Given the description of an element on the screen output the (x, y) to click on. 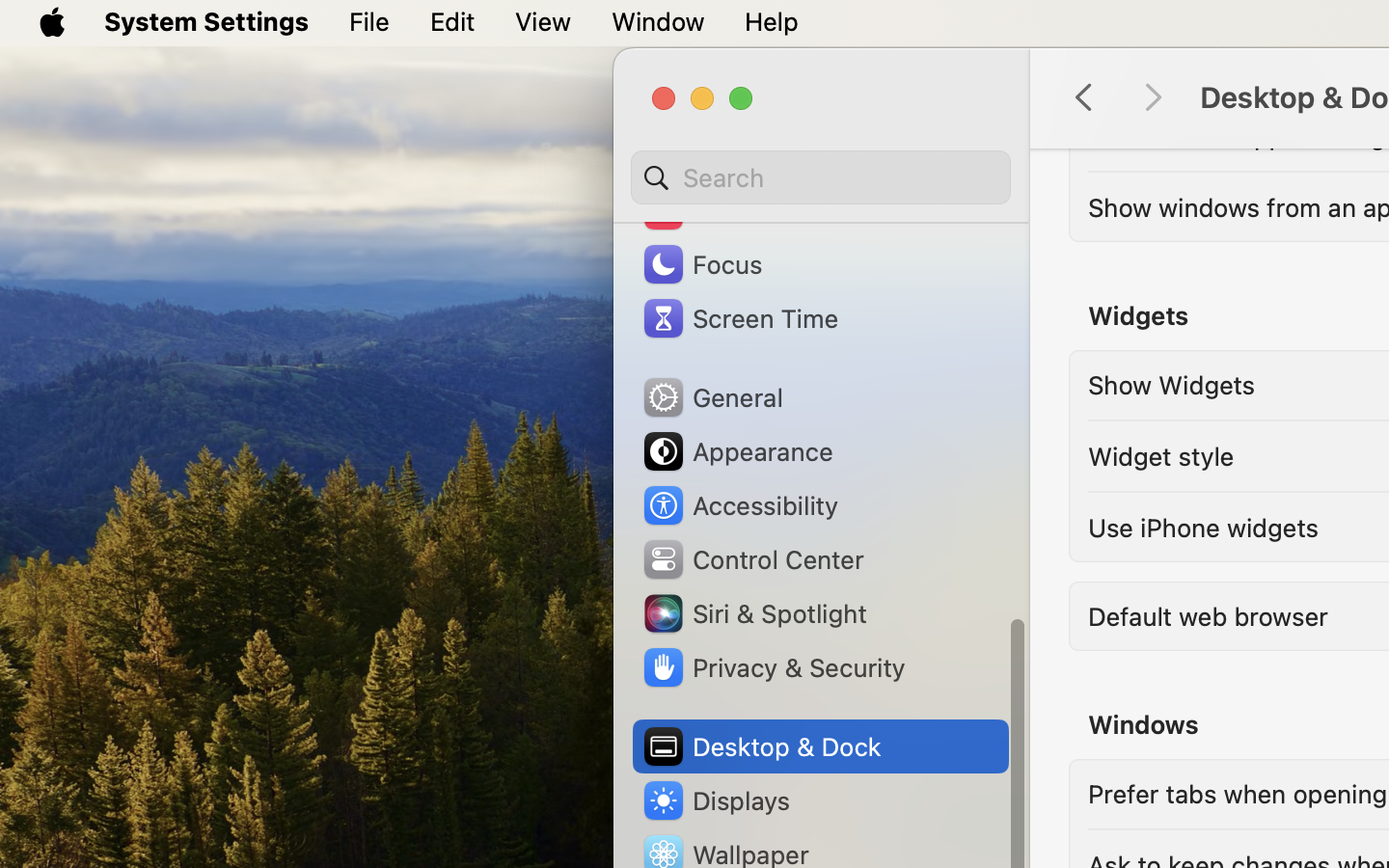
Appearance Element type: AXStaticText (736, 451)
Show Widgets Element type: AXStaticText (1171, 383)
Siri & Spotlight Element type: AXStaticText (753, 613)
General Element type: AXStaticText (711, 397)
Default web browser Element type: AXStaticText (1207, 614)
